Given the description of an element on the screen output the (x, y) to click on. 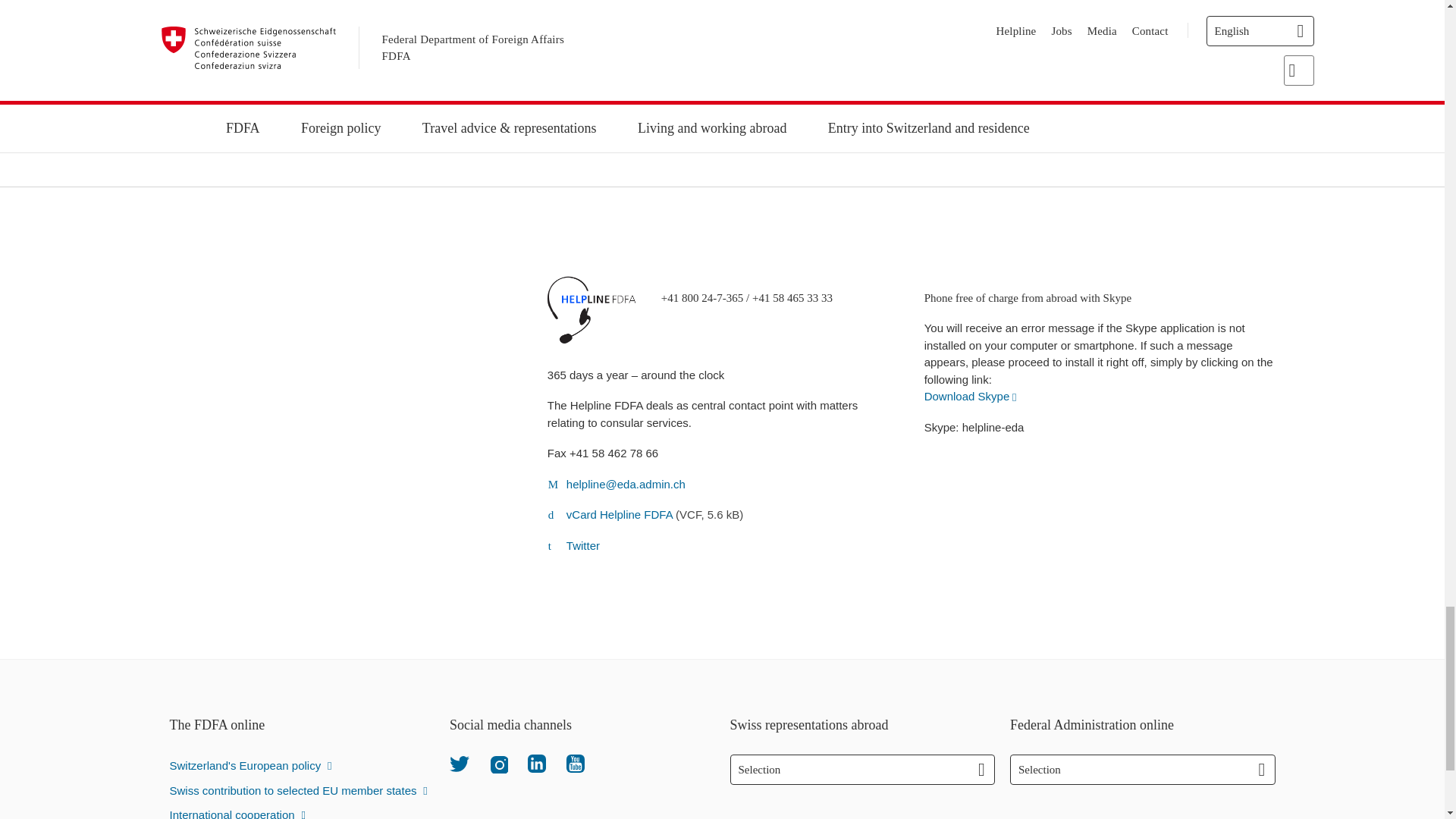
External Link (970, 395)
Twitter (458, 763)
Instagram (497, 763)
LinkedIn (537, 763)
